Given the description of an element on the screen output the (x, y) to click on. 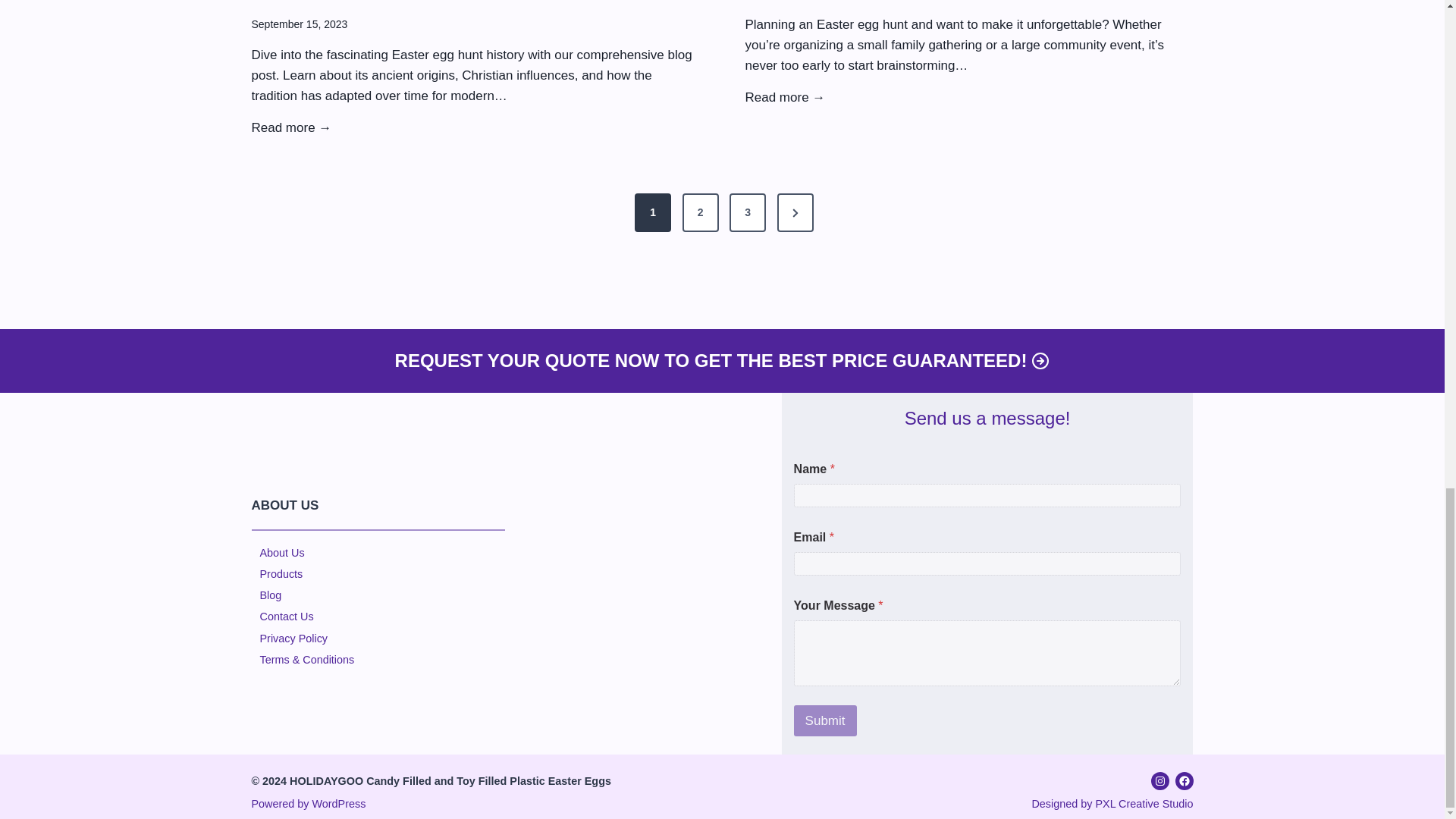
3 (747, 212)
Privacy Policy (293, 638)
Products (280, 573)
Next Page (795, 212)
Contact Us (286, 616)
About Us (281, 552)
Blog (270, 594)
2 (700, 212)
